Given the description of an element on the screen output the (x, y) to click on. 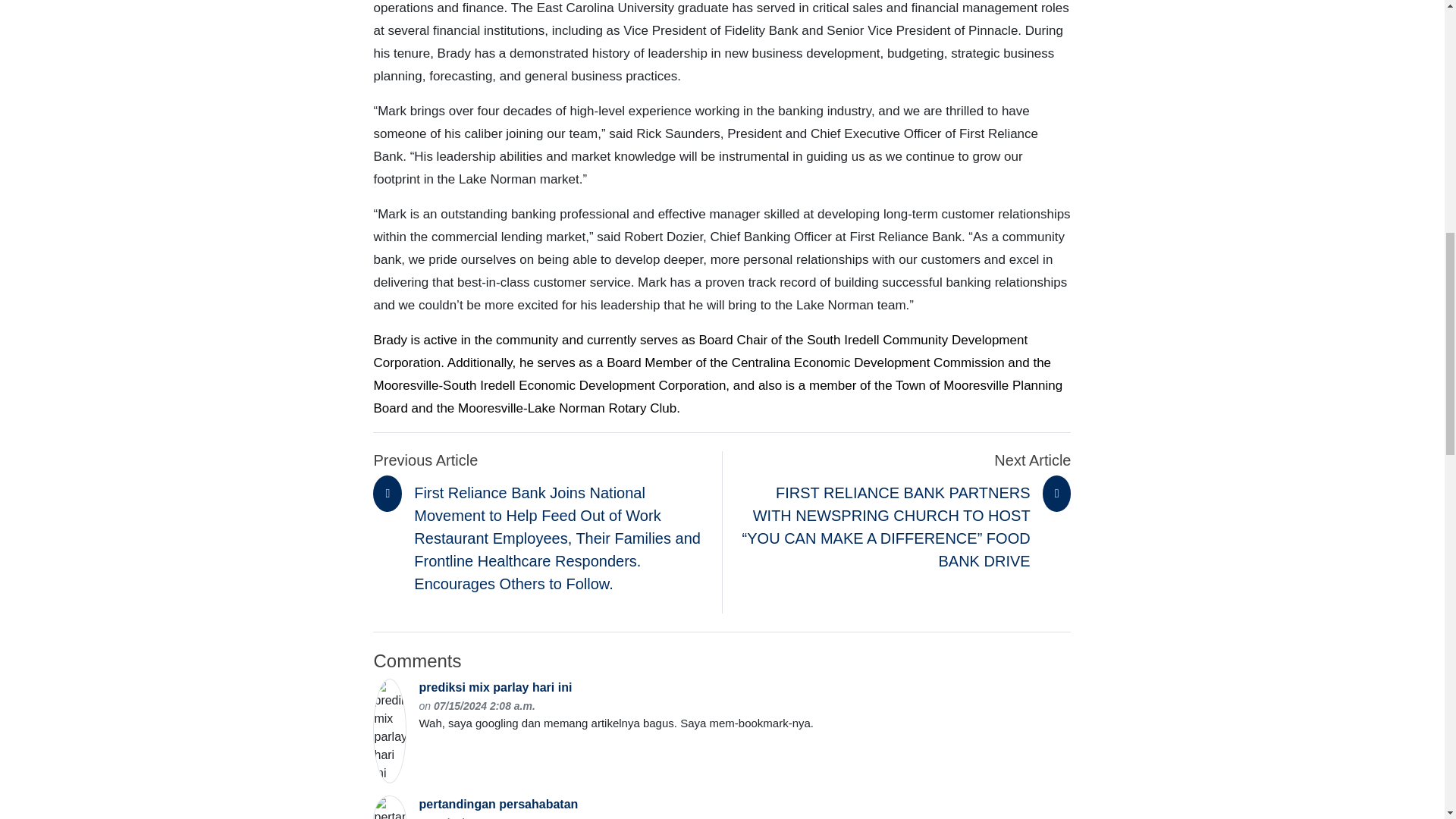
Direct link to this comment (484, 705)
Direct link to this comment (484, 817)
